Given the description of an element on the screen output the (x, y) to click on. 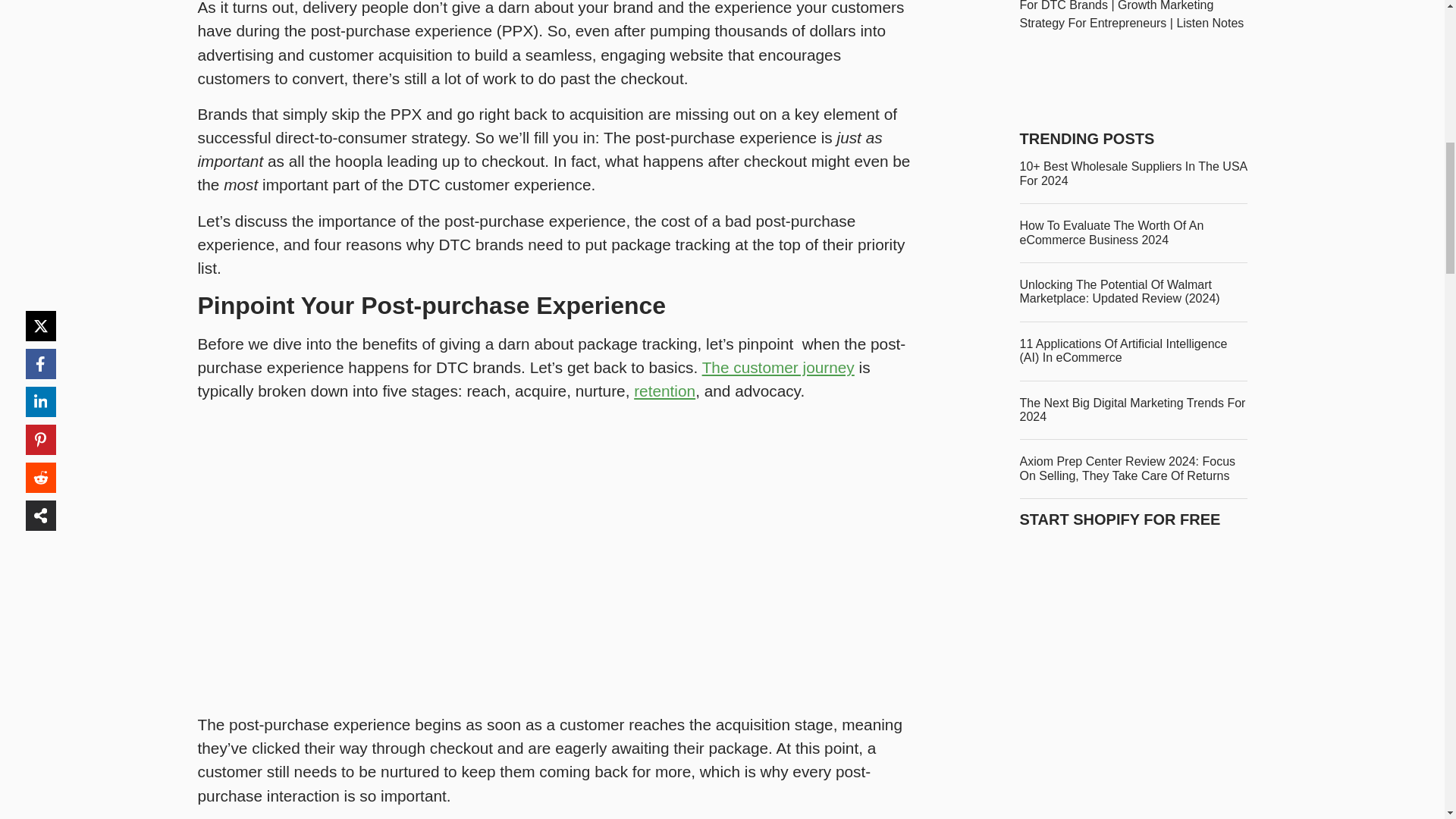
Retention.com (664, 390)
